Given the description of an element on the screen output the (x, y) to click on. 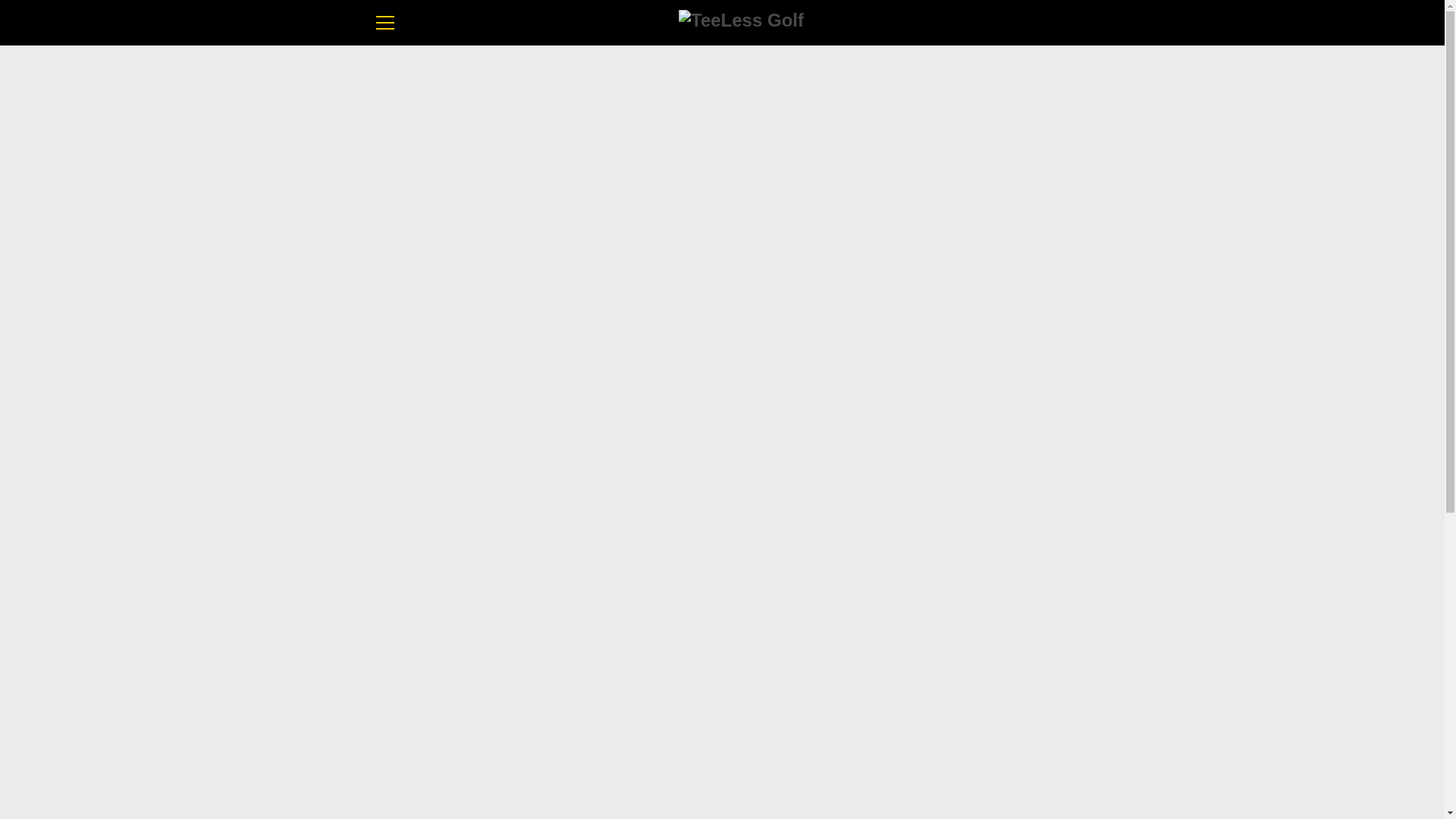
MENU (384, 22)
